Given the description of an element on the screen output the (x, y) to click on. 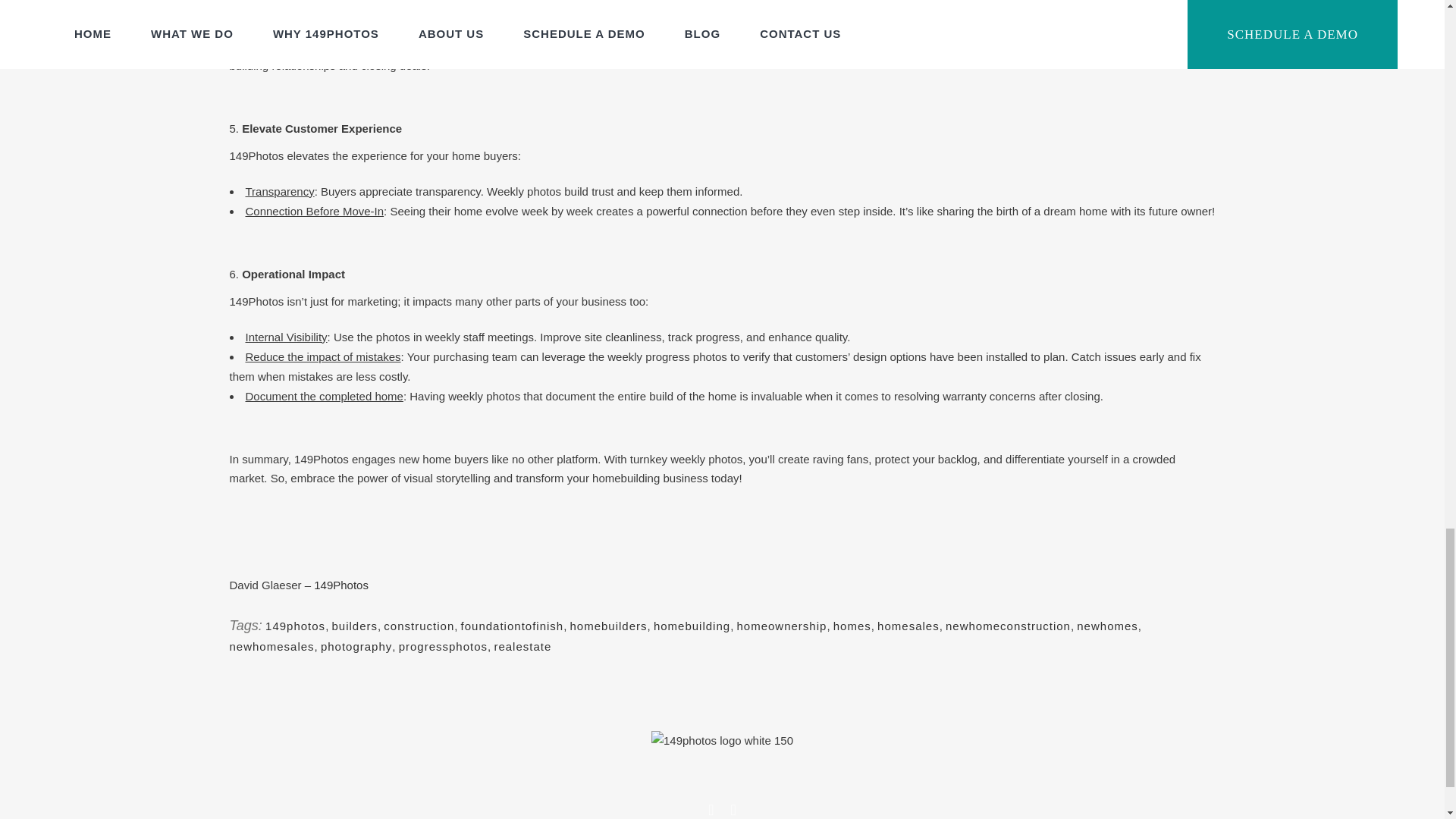
builders (354, 625)
149Photos (341, 584)
homebuilders (608, 625)
newhomesales (271, 645)
homeownership (781, 625)
newhomeconstruction (1007, 625)
149photos (294, 625)
construction (419, 625)
foundationtofinish (512, 625)
homes (851, 625)
